Given the description of an element on the screen output the (x, y) to click on. 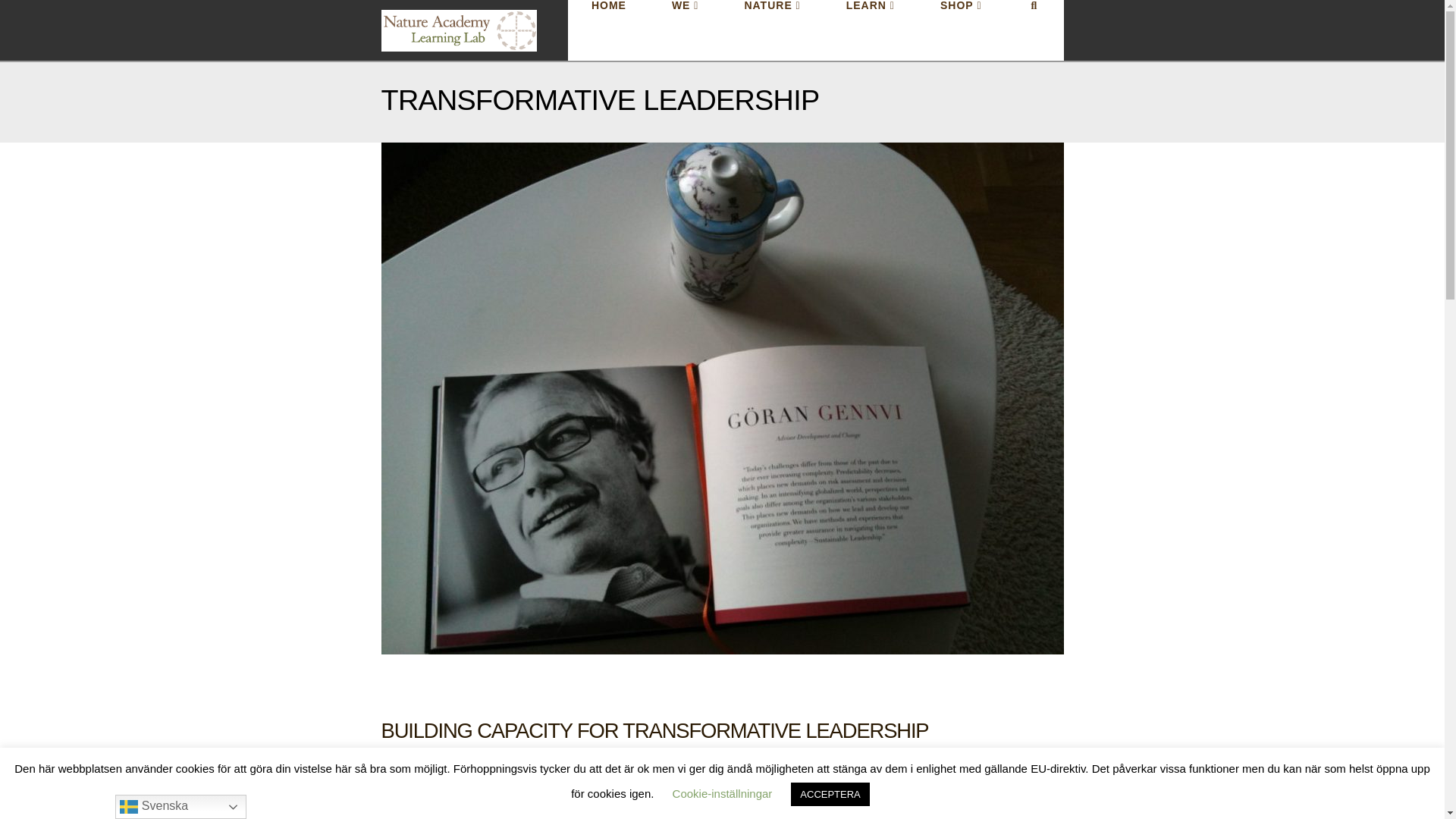
SHOP (960, 30)
WE (685, 30)
LEARN (870, 30)
HOME (608, 30)
NATURE (771, 30)
